Given the description of an element on the screen output the (x, y) to click on. 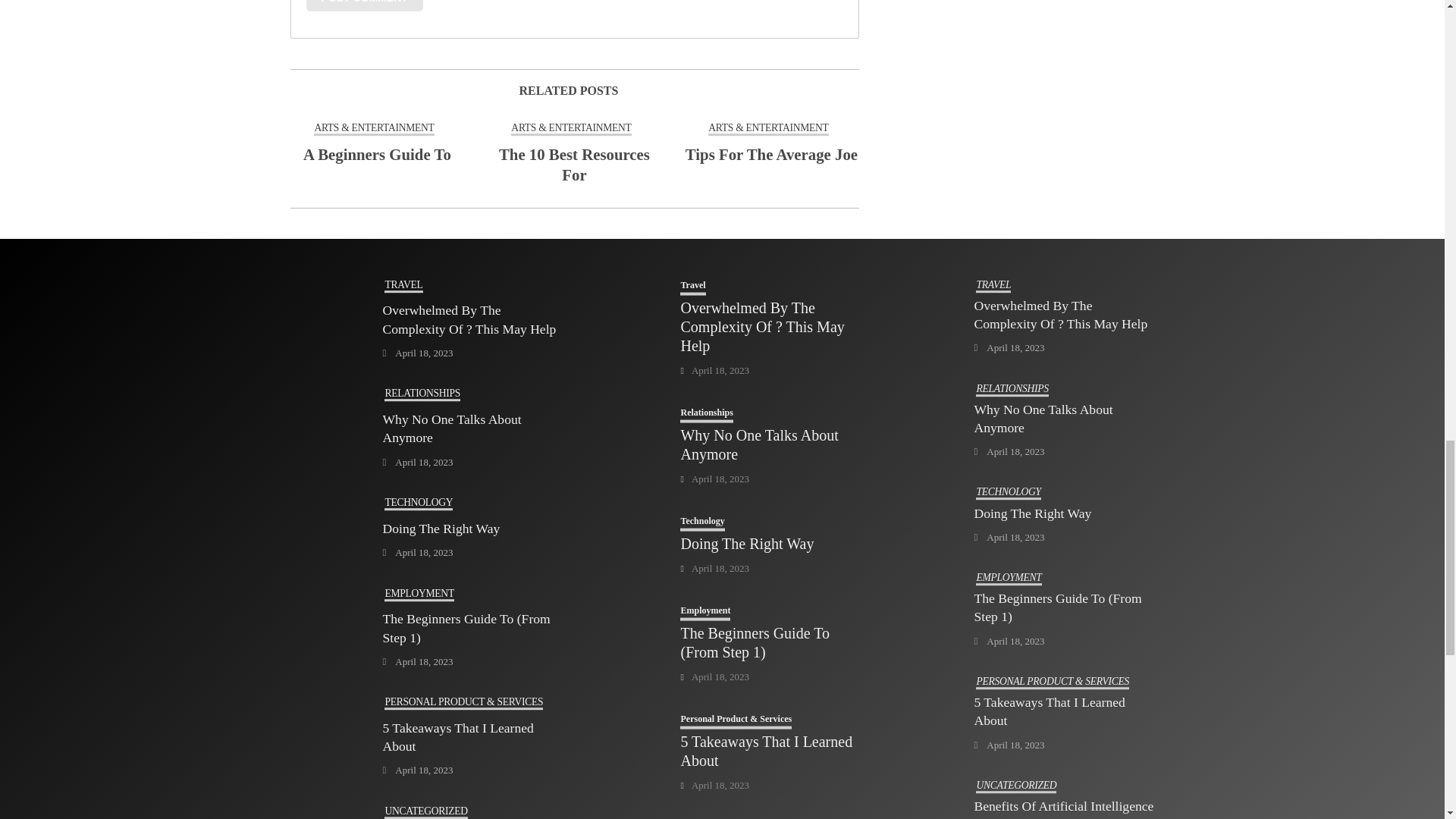
Post Comment (364, 5)
